Given the description of an element on the screen output the (x, y) to click on. 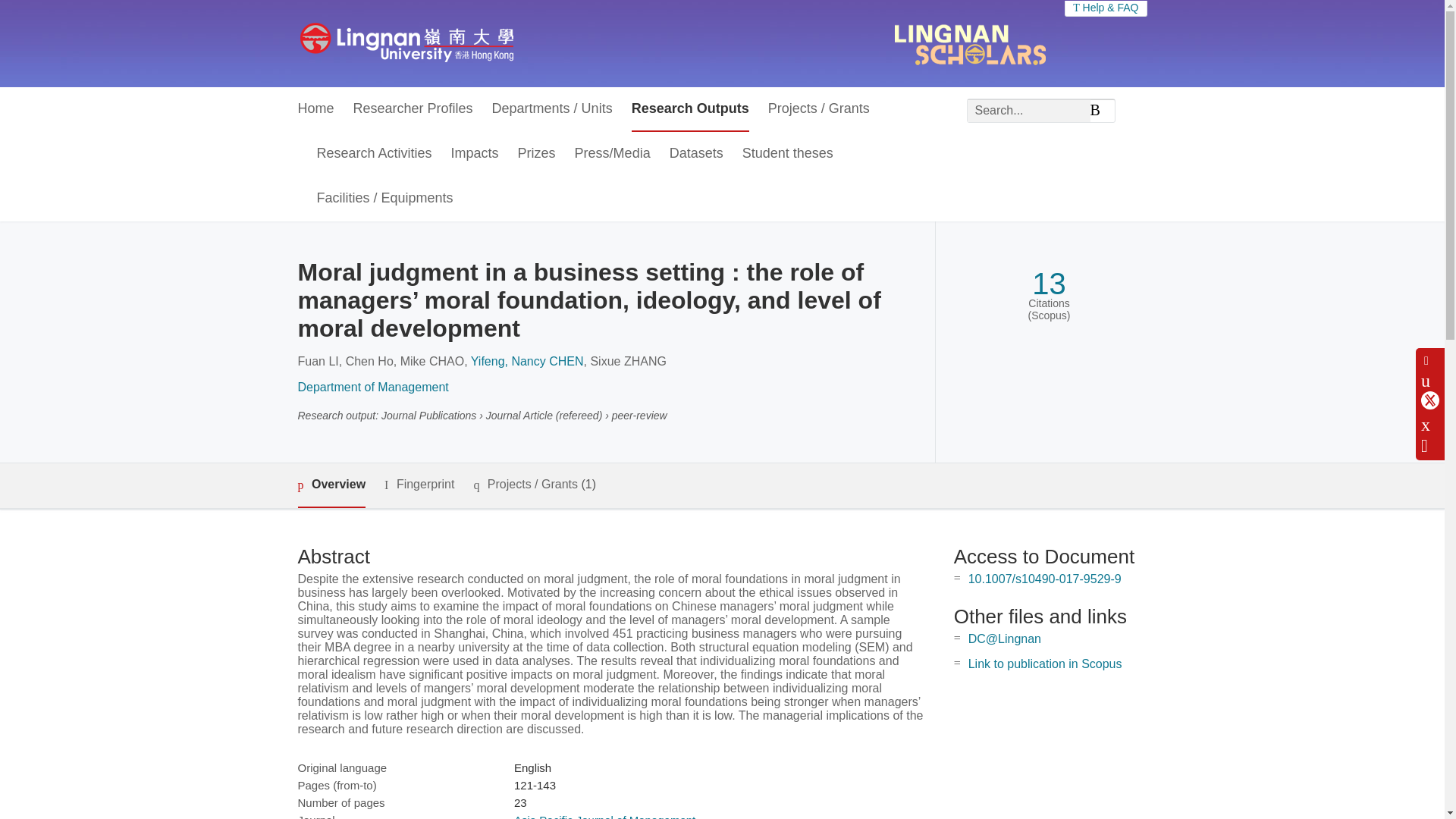
Student theses (787, 153)
Fingerprint (419, 484)
13 (1048, 284)
Department of Management (372, 386)
Datasets (696, 153)
Link to publication in Scopus (1045, 663)
Impacts (475, 153)
Lingnan Scholars Home (406, 43)
Research Activities (374, 153)
Yifeng, Nancy CHEN (526, 360)
